Given the description of an element on the screen output the (x, y) to click on. 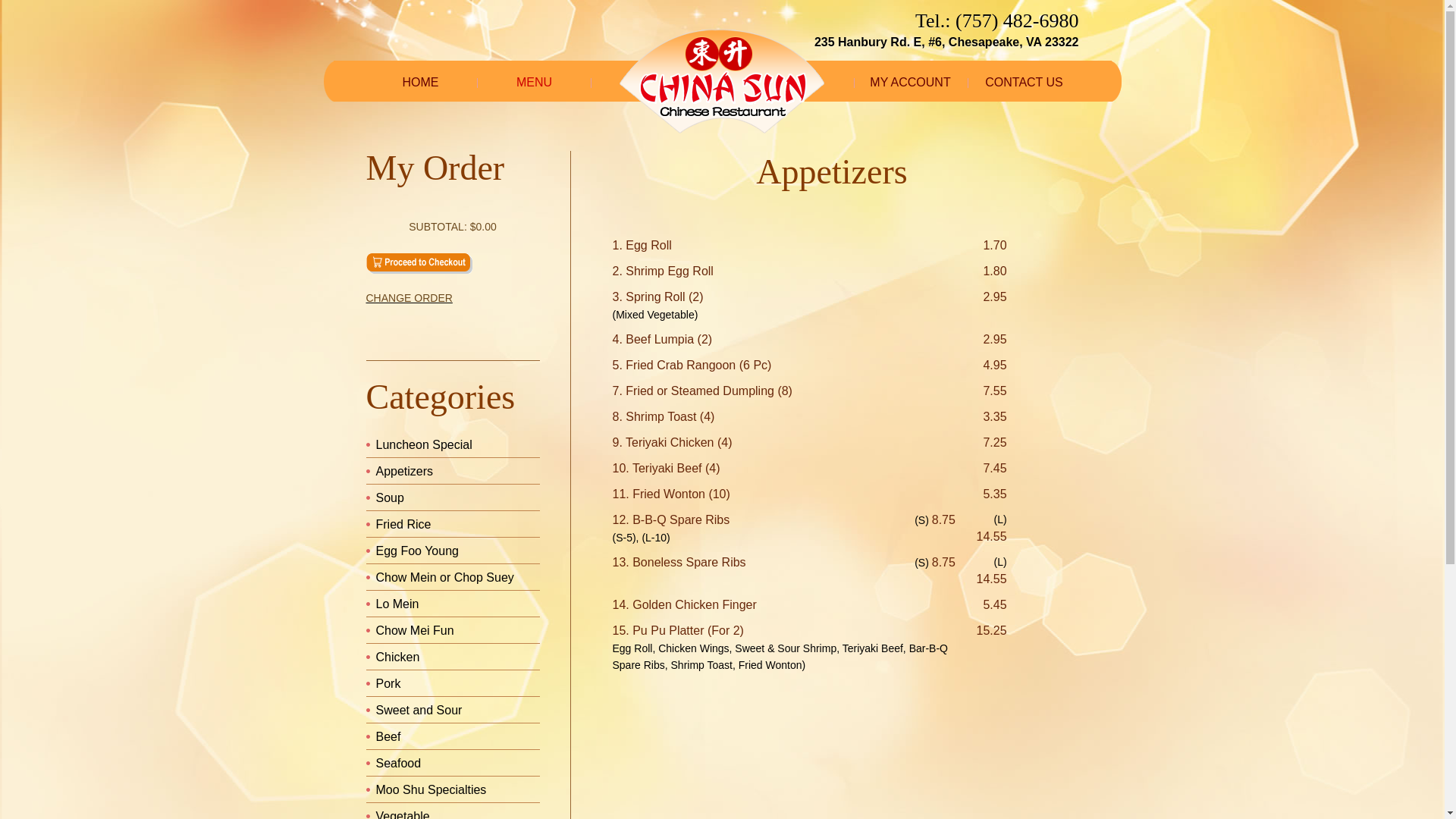
HOME Element type: text (420, 82)
Chow Mei Fun Element type: text (415, 630)
Appetizers Element type: text (404, 470)
Pork Element type: text (388, 683)
Sweet and Sour Element type: text (419, 709)
MY ACCOUNT Element type: text (910, 82)
Soup Element type: text (390, 497)
Seafood Element type: text (398, 762)
Chow Mein or Chop Suey Element type: text (445, 577)
Moo Shu Specialties Element type: text (431, 789)
Lo Mein Element type: text (397, 603)
Beef Element type: text (388, 736)
CONTACT US Element type: text (1024, 82)
Chicken Element type: text (398, 656)
Fried Rice Element type: text (403, 523)
CHANGE ORDER Element type: text (452, 297)
Egg Foo Young Element type: text (417, 550)
Luncheon Special Element type: text (424, 444)
MENU Element type: text (534, 82)
